Given the description of an element on the screen output the (x, y) to click on. 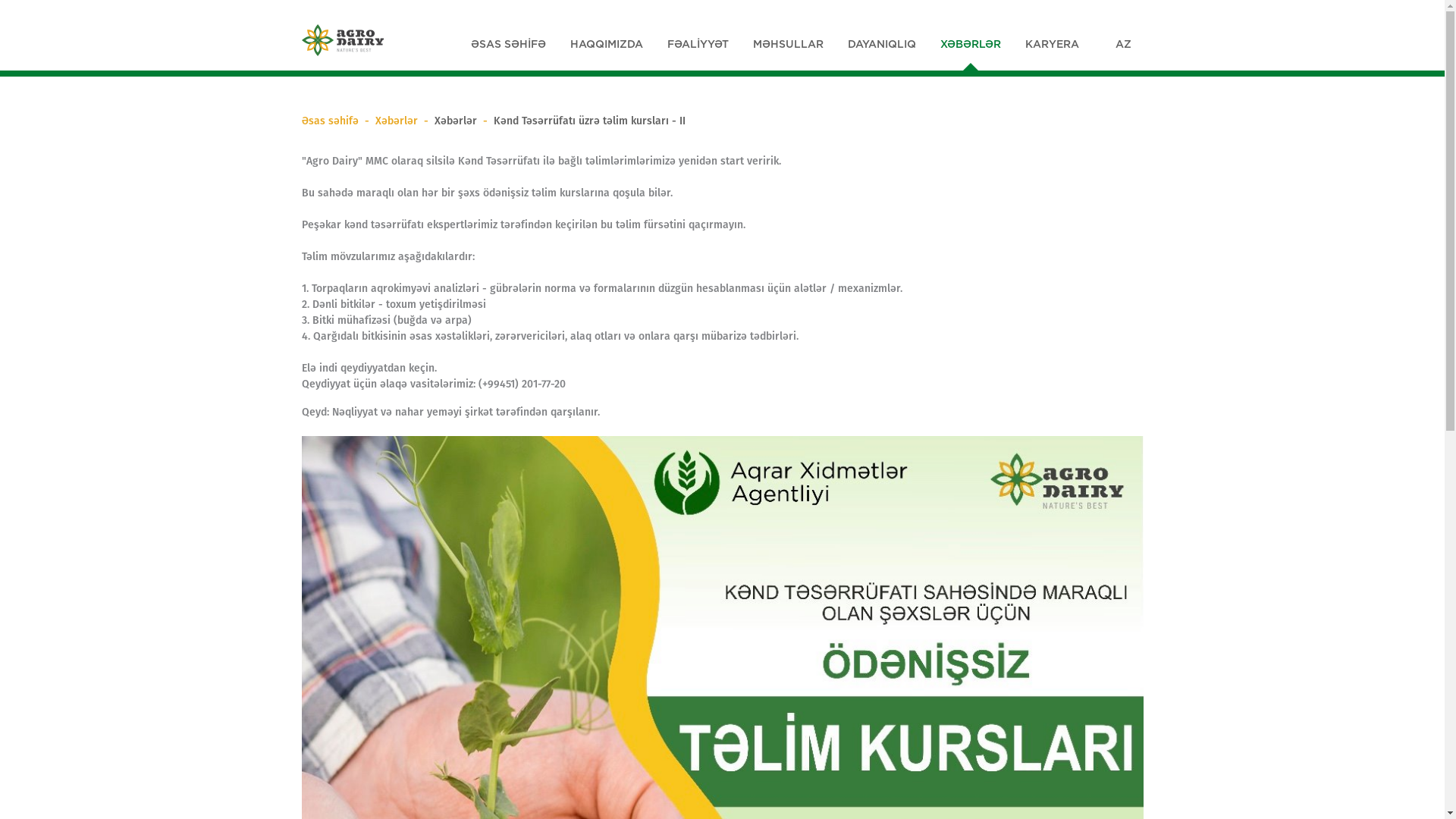
DAYANIQLIQ Element type: text (881, 44)
KARYERA Element type: text (1052, 44)
AZ Element type: text (1122, 44)
HAQQIMIZDA Element type: text (606, 44)
